Given the description of an element on the screen output the (x, y) to click on. 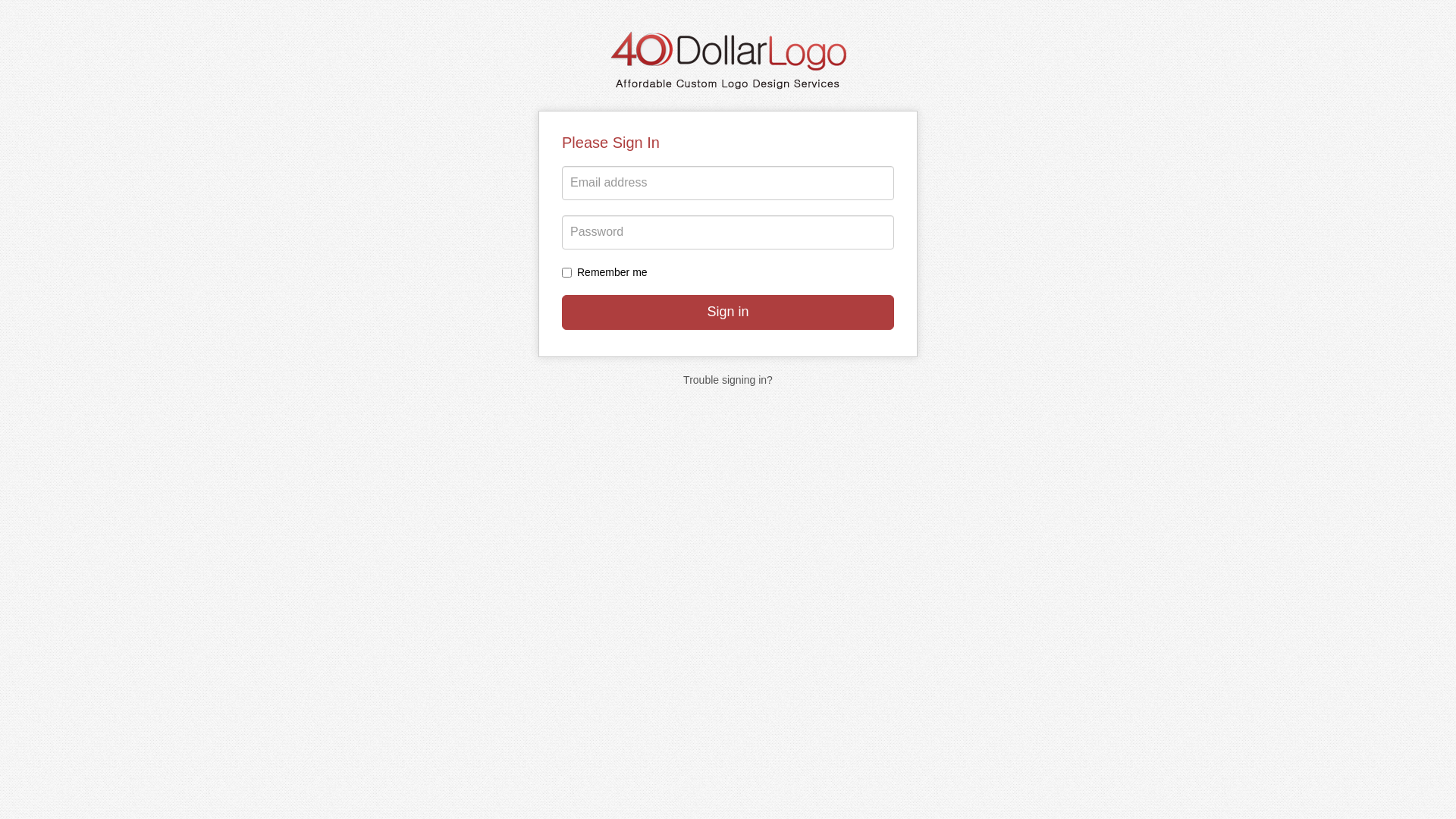
Trouble signing in? Element type: text (727, 379)
Sign in Element type: text (727, 311)
